Given the description of an element on the screen output the (x, y) to click on. 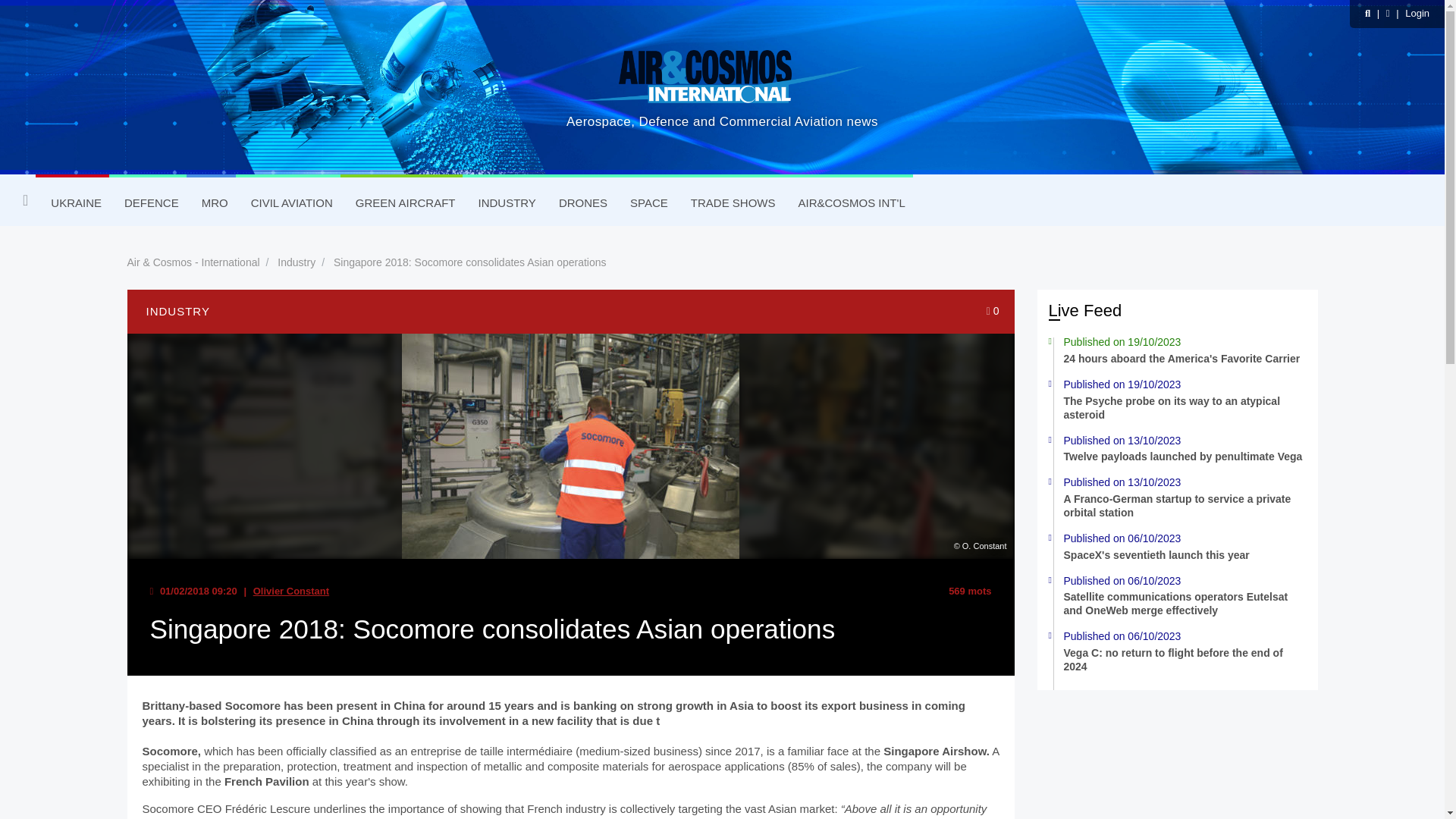
GREEN AIRCRAFT (401, 203)
DRONES (578, 203)
DEFENCE (147, 203)
SPACE (644, 203)
Singapore 2018: Socomore consolidates Asian operations (470, 262)
Olivier Constant (291, 591)
Industry (296, 262)
MRO (210, 203)
TRADE SHOWS (729, 203)
INDUSTRY (503, 203)
CIVIL AVIATION (287, 203)
UKRAINE (71, 203)
